Given the description of an element on the screen output the (x, y) to click on. 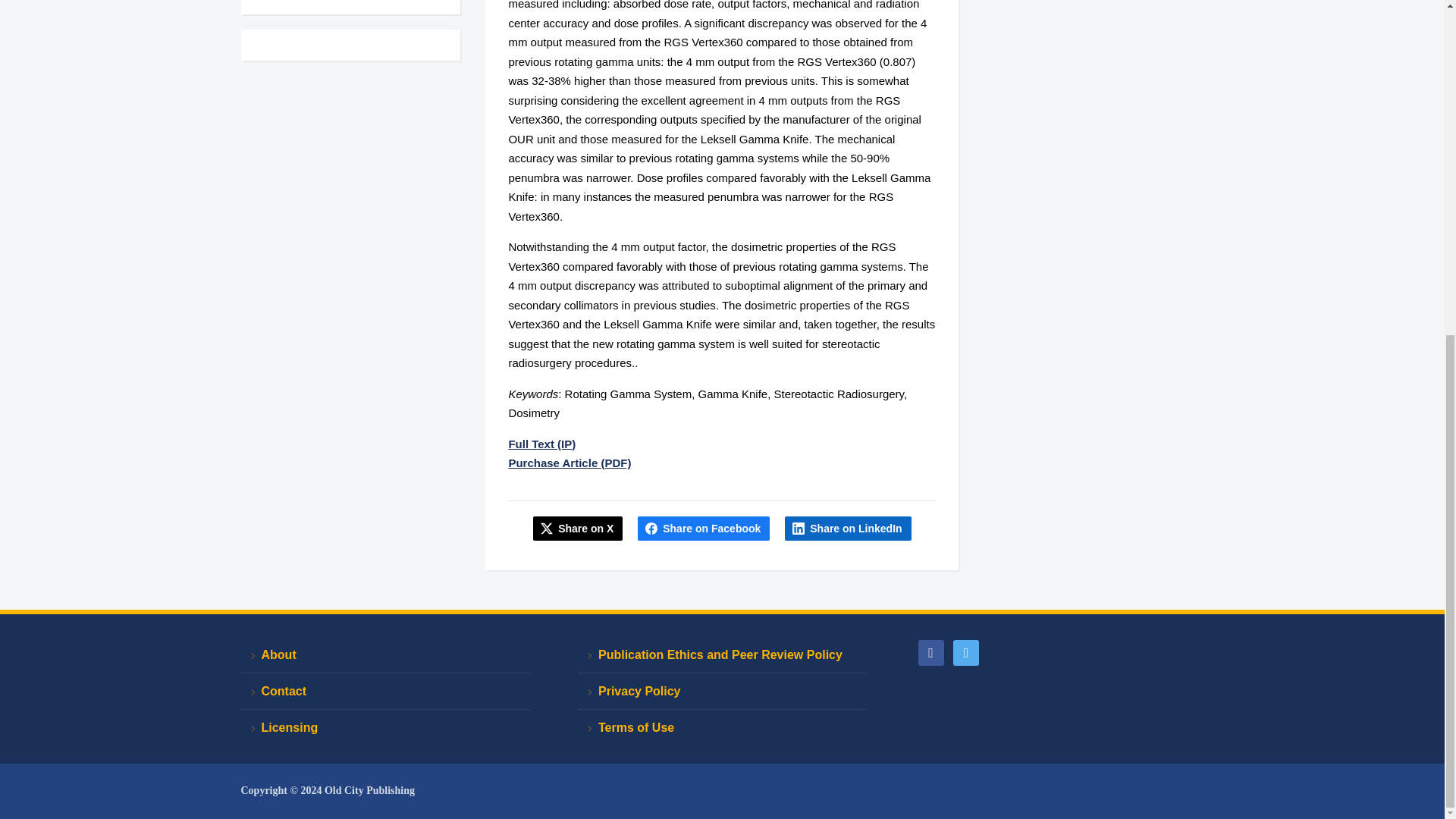
About (385, 655)
Contact (385, 691)
Friend me on Facebook (930, 651)
Privacy Policy (722, 691)
Share on LinkedIn (847, 528)
Share this on Facebook (703, 528)
Share on Facebook (703, 528)
Terms of Use (722, 727)
Follow Me (965, 651)
twitter (965, 651)
